Given the description of an element on the screen output the (x, y) to click on. 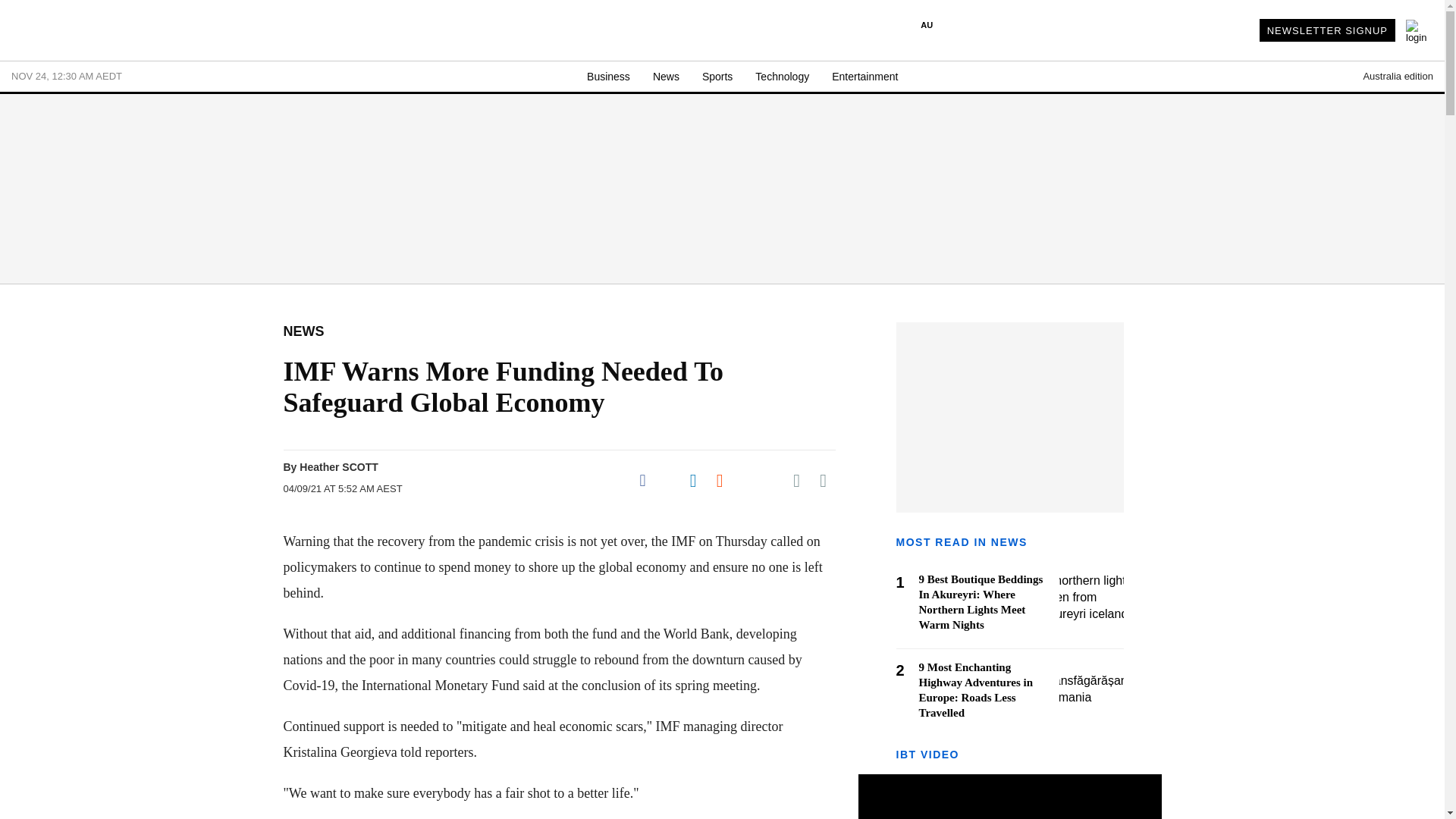
NEWSLETTER SIGNUP Element type: text (1327, 29)
NEWS Element type: text (303, 330)
News Element type: text (665, 76)
Share on Facebook Element type: text (642, 480)
Share on LinkedIn Element type: text (692, 480)
Entertainment Element type: text (864, 76)
Share on Flipboard Element type: text (746, 480)
Sports Element type: text (716, 76)
Business Element type: text (608, 76)
Share on Pocket Element type: text (770, 480)
Share on Reddit Element type: text (719, 480)
Share on Twitter Element type: text (666, 480)
INTERNATIONAL BUSINESS TIMES
AU Element type: text (689, 31)
Technology Element type: text (781, 76)
